Given the description of an element on the screen output the (x, y) to click on. 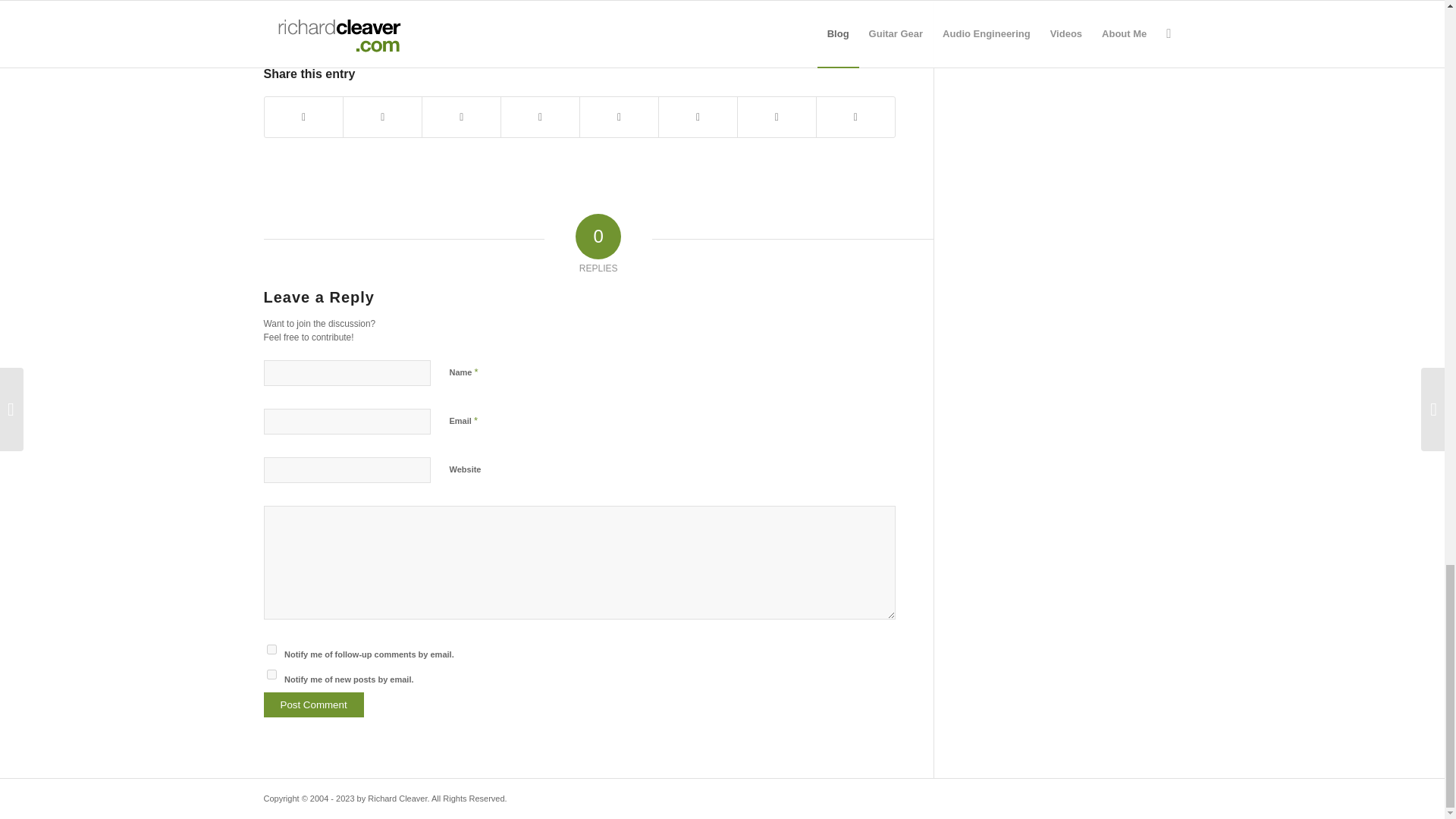
Post Comment (313, 704)
subscribe (271, 674)
DSCF3081 (453, 18)
Post Comment (313, 704)
subscribe (271, 649)
